Given the description of an element on the screen output the (x, y) to click on. 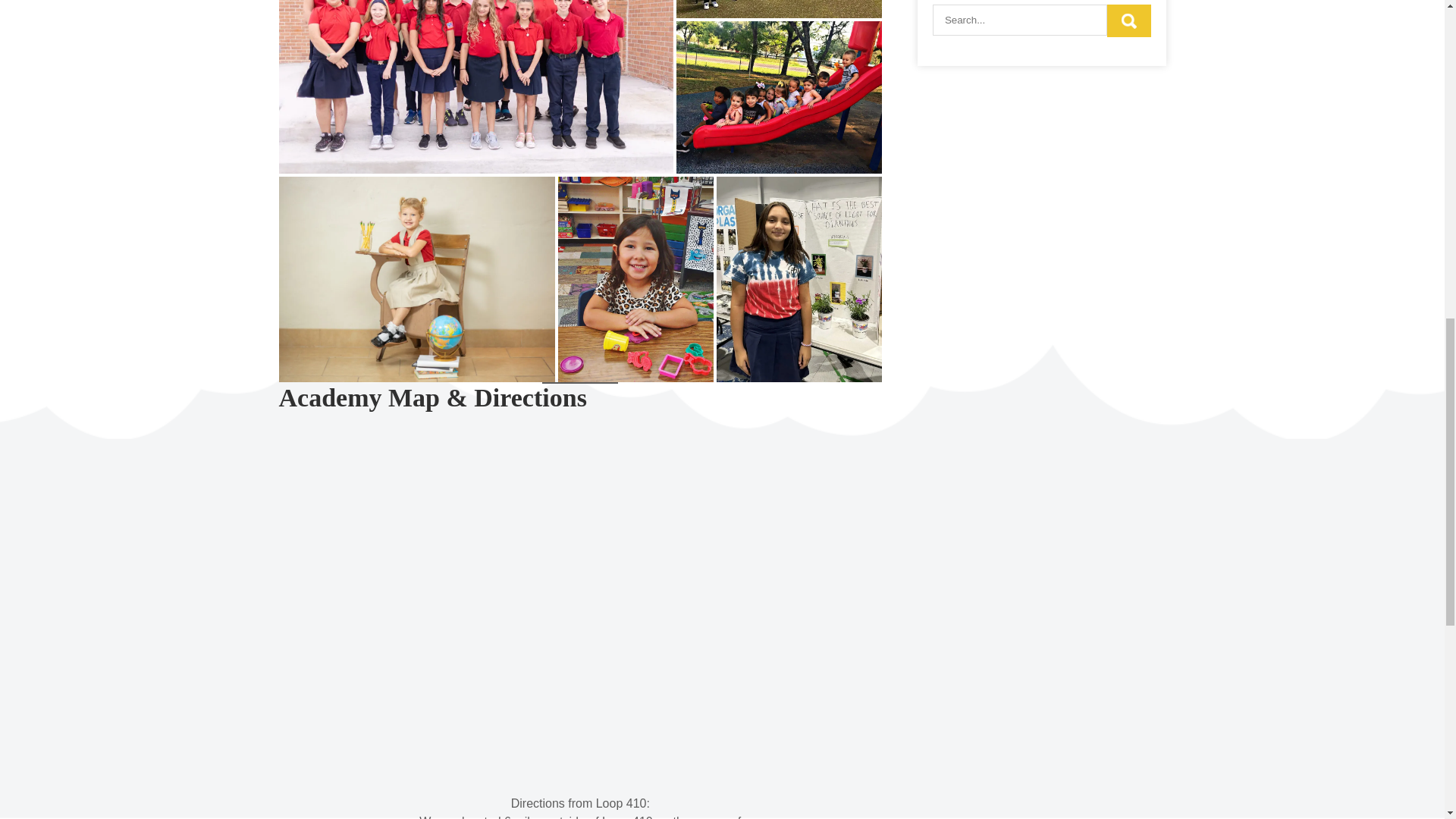
Search (1128, 20)
Search (1128, 20)
Search (1128, 20)
